Given the description of an element on the screen output the (x, y) to click on. 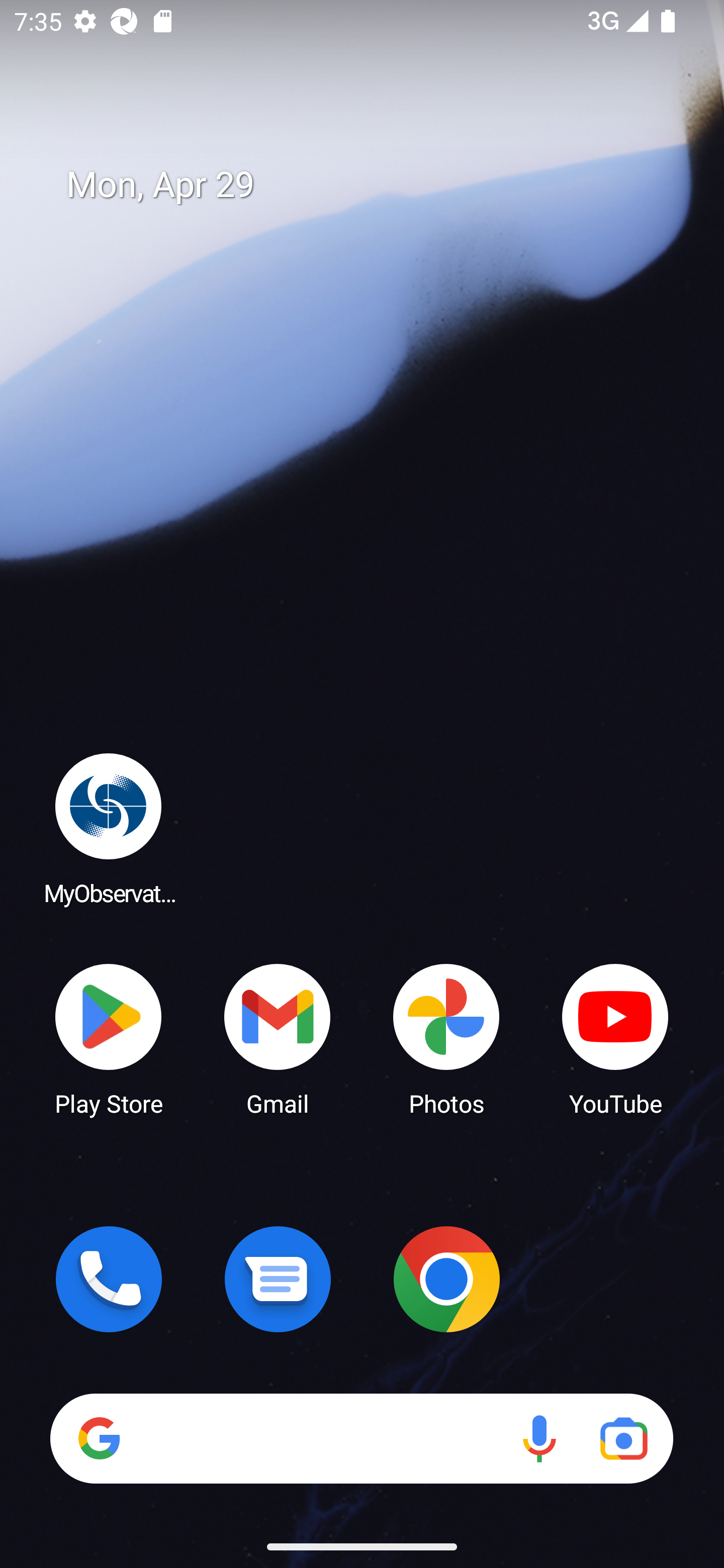
Mon, Apr 29 (375, 184)
MyObservatory (108, 828)
Play Store (108, 1038)
Gmail (277, 1038)
Photos (445, 1038)
YouTube (615, 1038)
Phone (108, 1279)
Messages (277, 1279)
Chrome (446, 1279)
Voice search (539, 1438)
Google Lens (623, 1438)
